Given the description of an element on the screen output the (x, y) to click on. 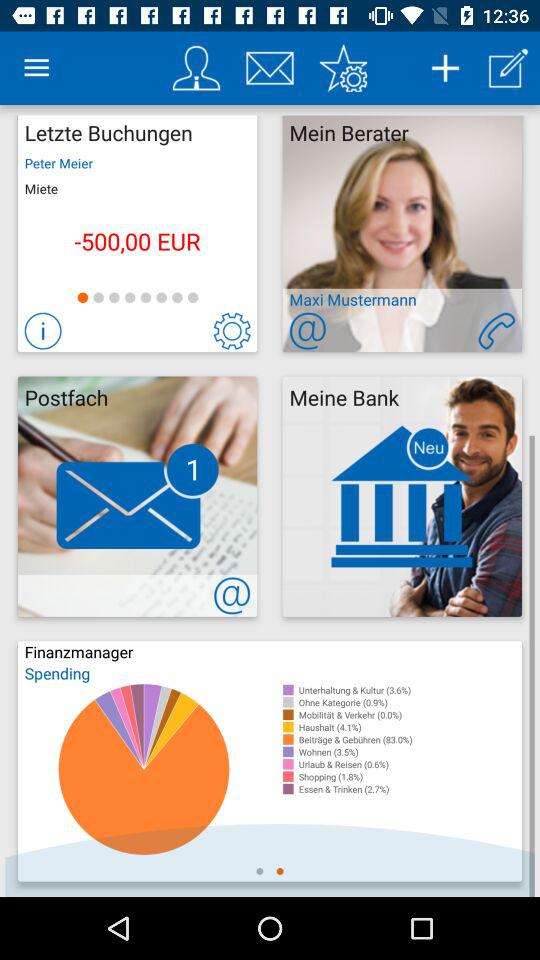
button for more informations (42, 330)
